Given the description of an element on the screen output the (x, y) to click on. 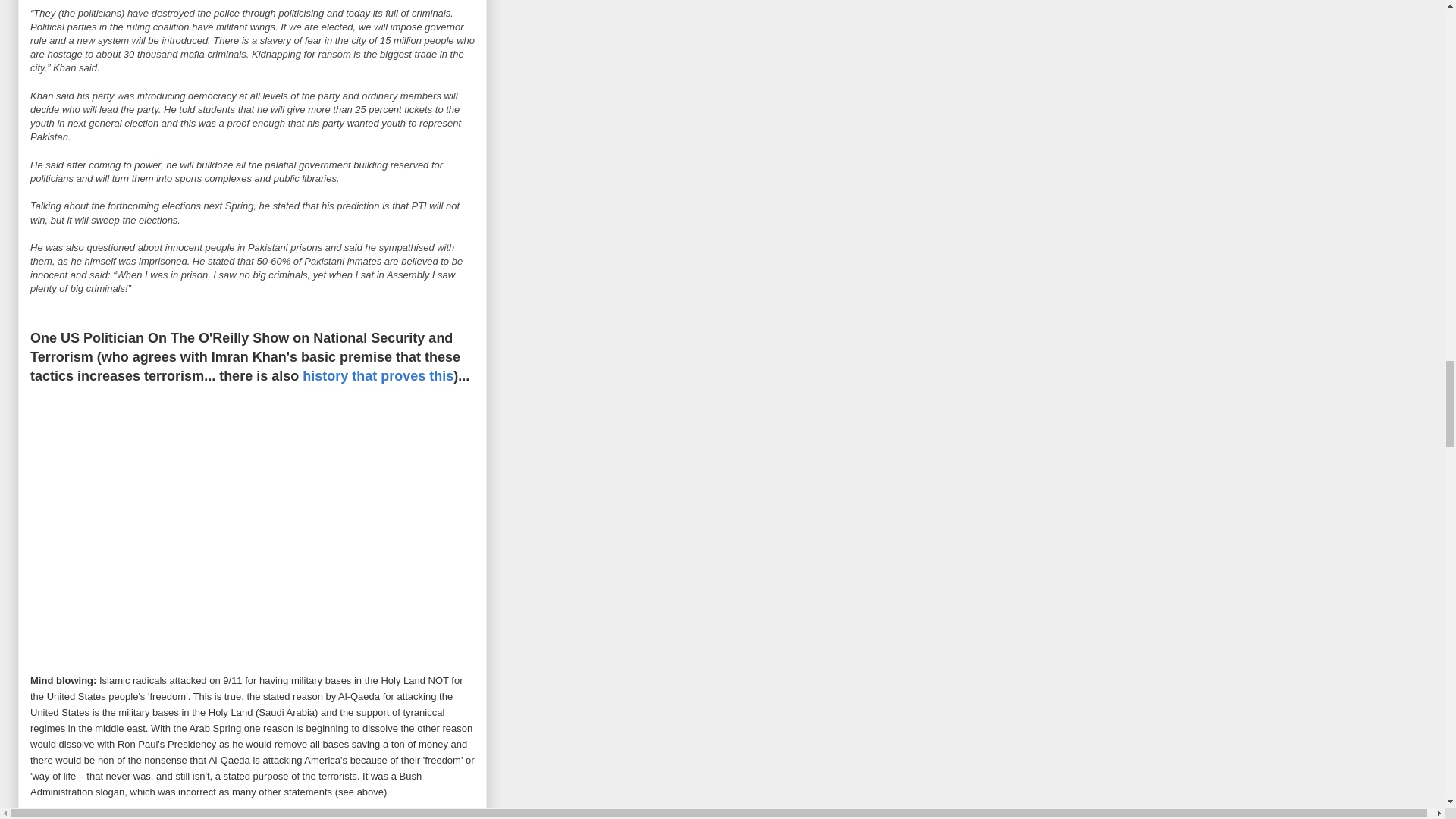
history that proves this (377, 376)
